Given the description of an element on the screen output the (x, y) to click on. 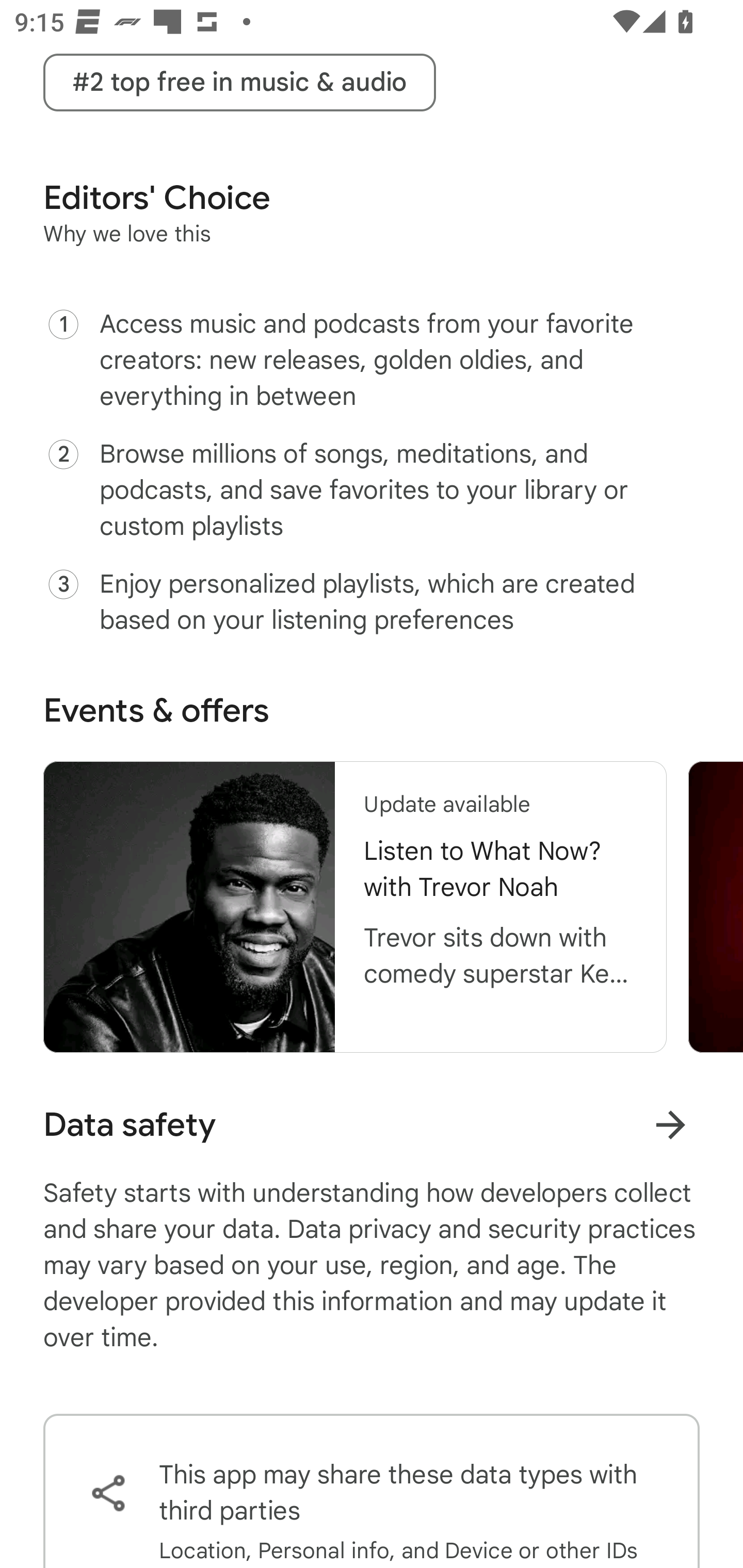
#2 top free in music & audio tag (239, 82)
Data safety Learn more about data safety (371, 1125)
Learn more about data safety (670, 1124)
